Given the description of an element on the screen output the (x, y) to click on. 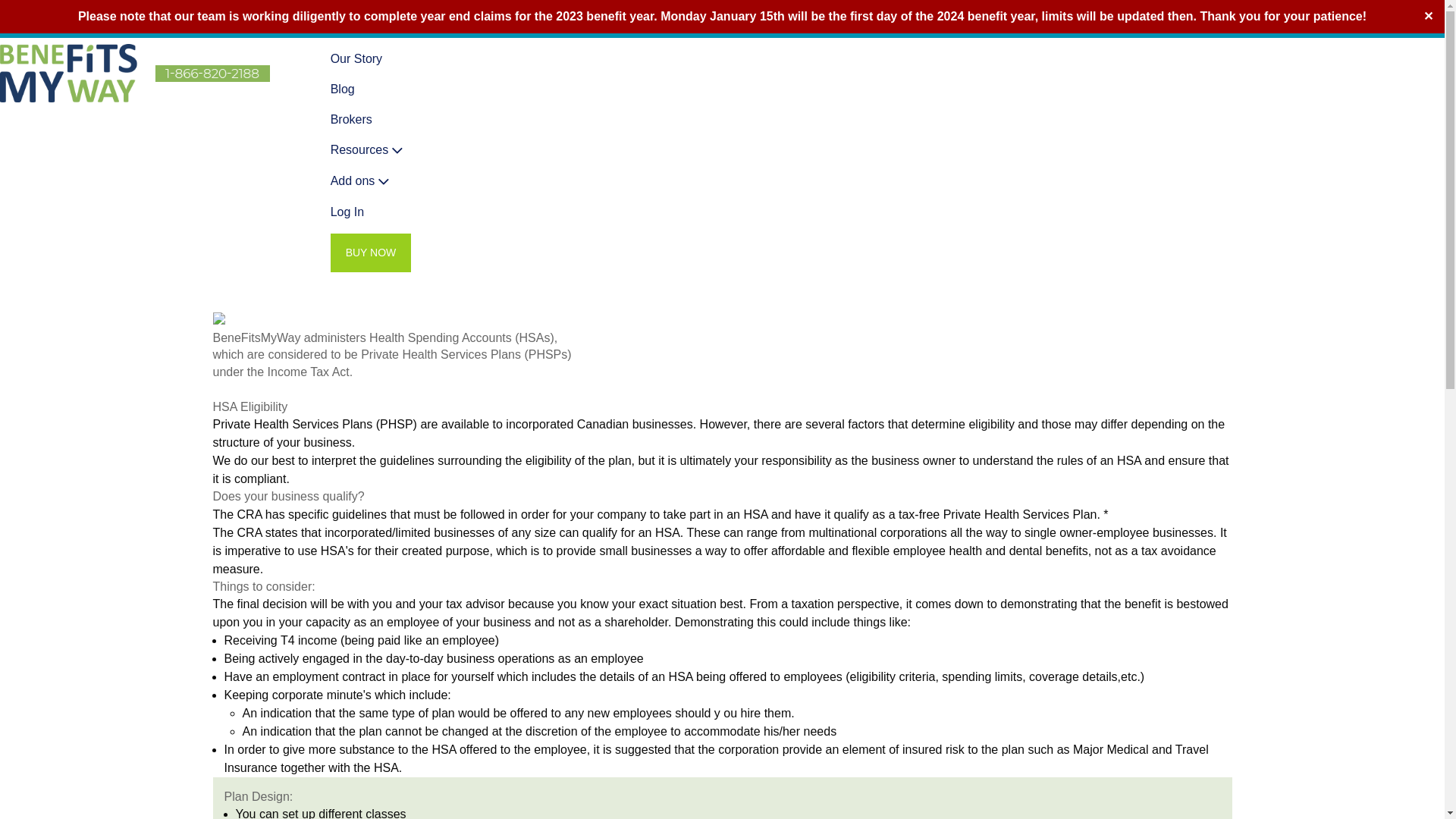
Blog (342, 89)
Log In (347, 212)
Add ons (361, 180)
Resources (368, 149)
BUY NOW (371, 252)
Brokers (351, 119)
Our Story (355, 58)
AGA Benefit Solutions acquires BeneFitsMyWay. Read more. (721, 21)
